Given the description of an element on the screen output the (x, y) to click on. 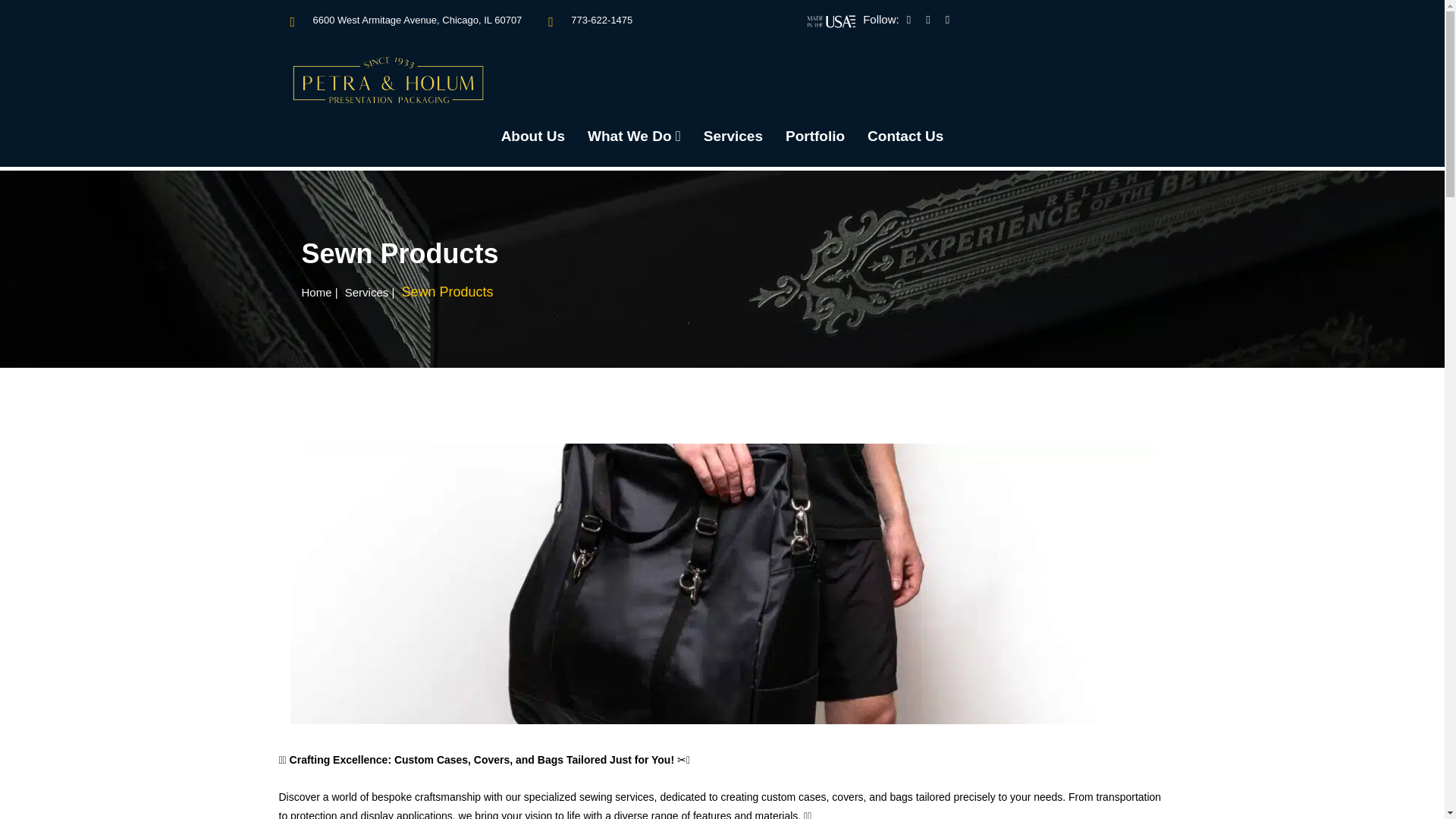
Portfolio (815, 136)
Awesome Logo (387, 80)
About Us (532, 136)
Portfolio (815, 136)
Services (366, 291)
About Us (532, 136)
What We Do (634, 136)
What We Do (634, 136)
Contact Us (905, 136)
Contact Us (905, 136)
Home (316, 291)
Services (733, 136)
Services (733, 136)
